Given the description of an element on the screen output the (x, y) to click on. 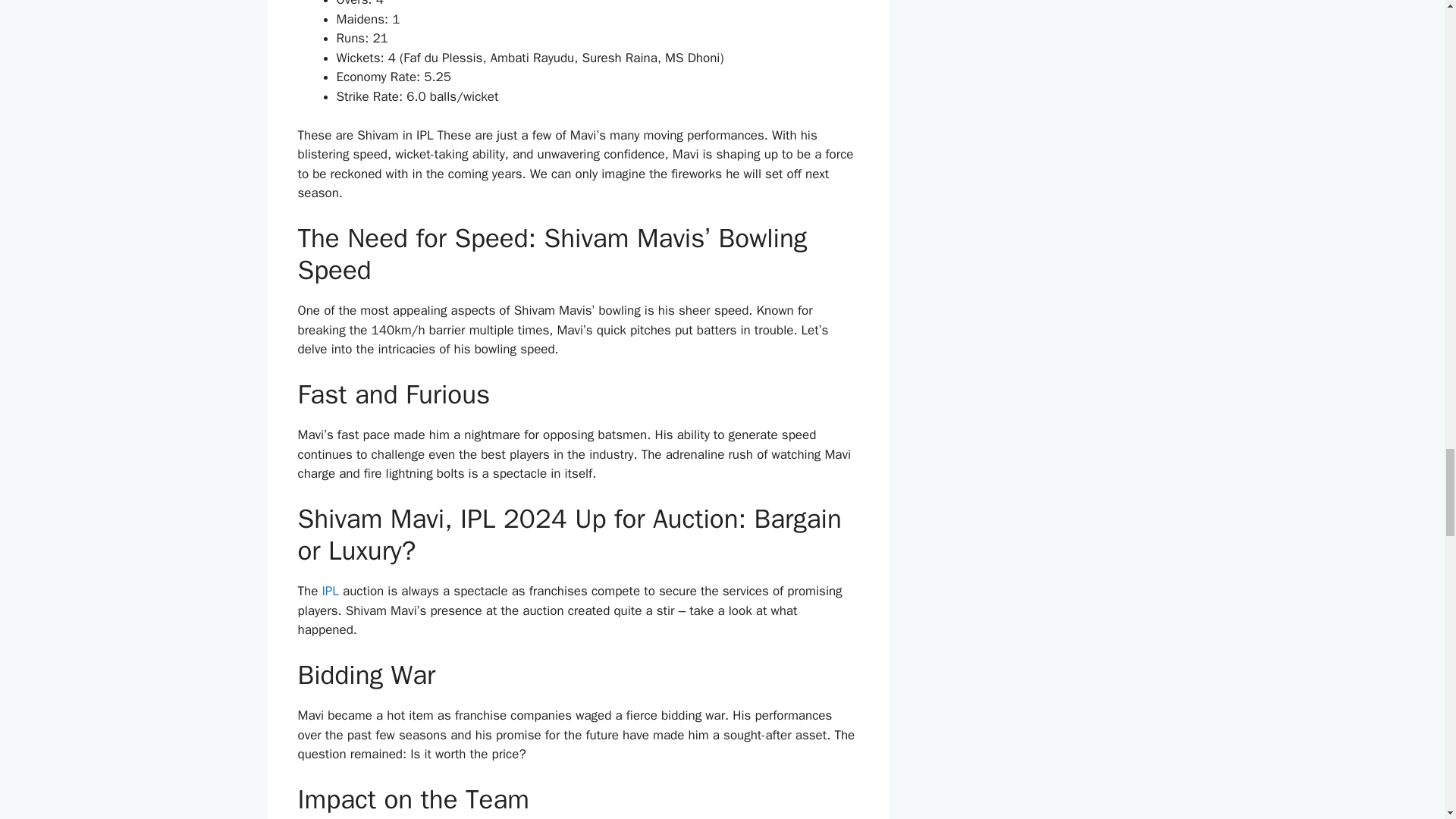
IPL (329, 590)
